Given the description of an element on the screen output the (x, y) to click on. 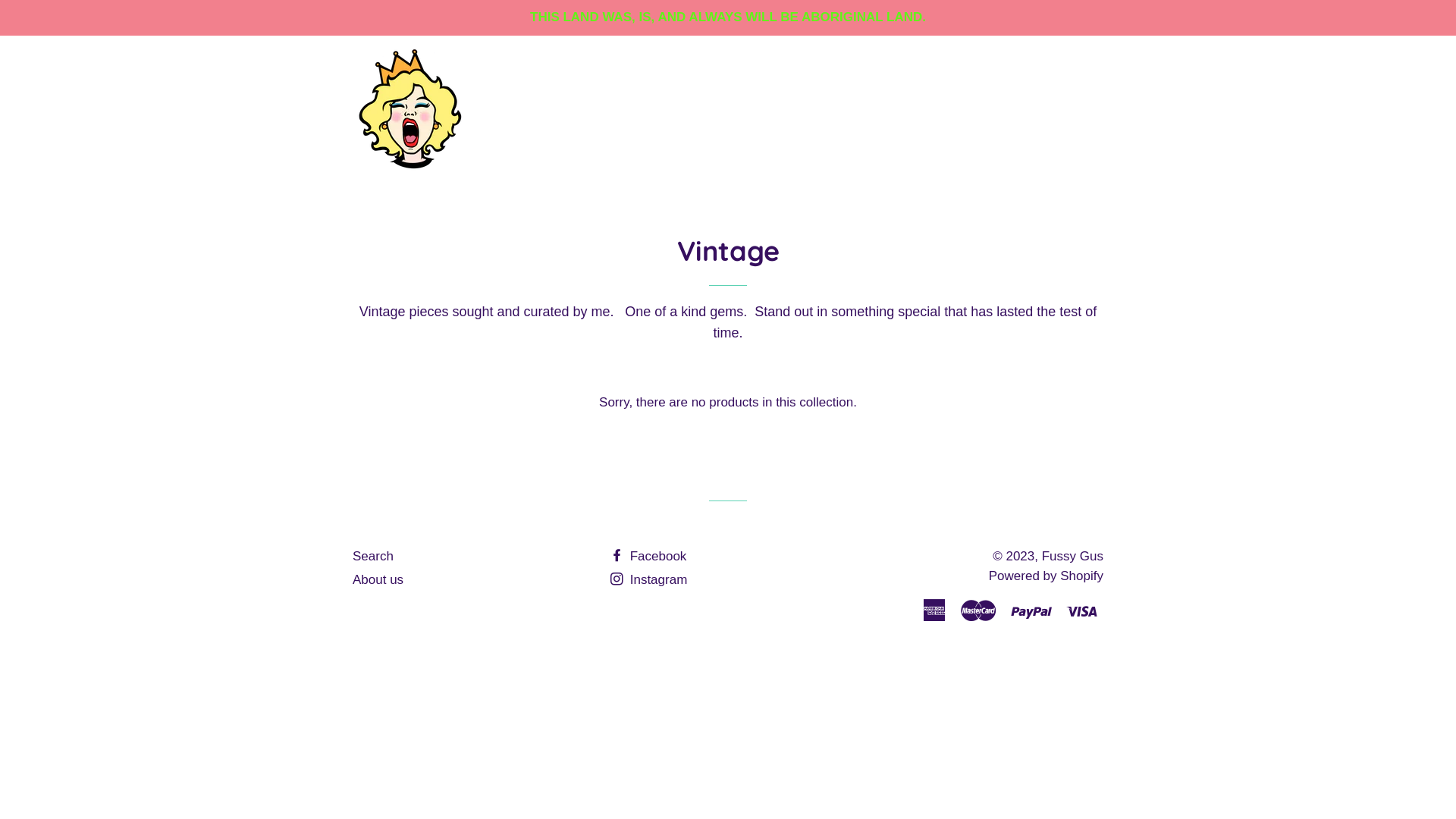
About us Element type: text (377, 579)
Search Element type: text (372, 556)
Powered by Shopify Element type: text (1045, 575)
Facebook Element type: text (648, 556)
Fussy Gus Element type: text (1072, 556)
Instagram Element type: text (648, 579)
